Given the description of an element on the screen output the (x, y) to click on. 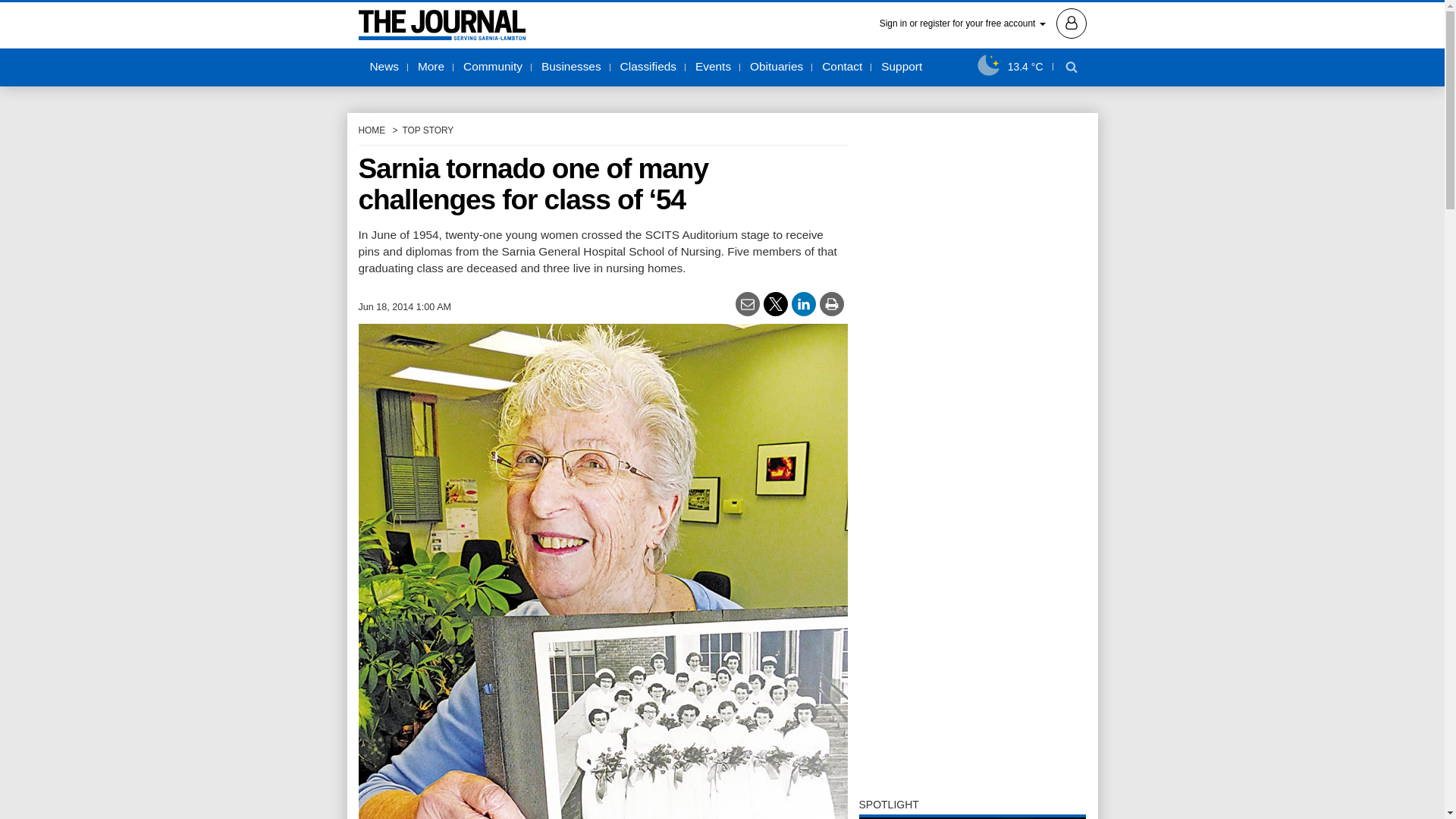
Community (493, 67)
Sign in or register for your free account (982, 22)
News (383, 67)
3rd party ad content (972, 688)
